Given the description of an element on the screen output the (x, y) to click on. 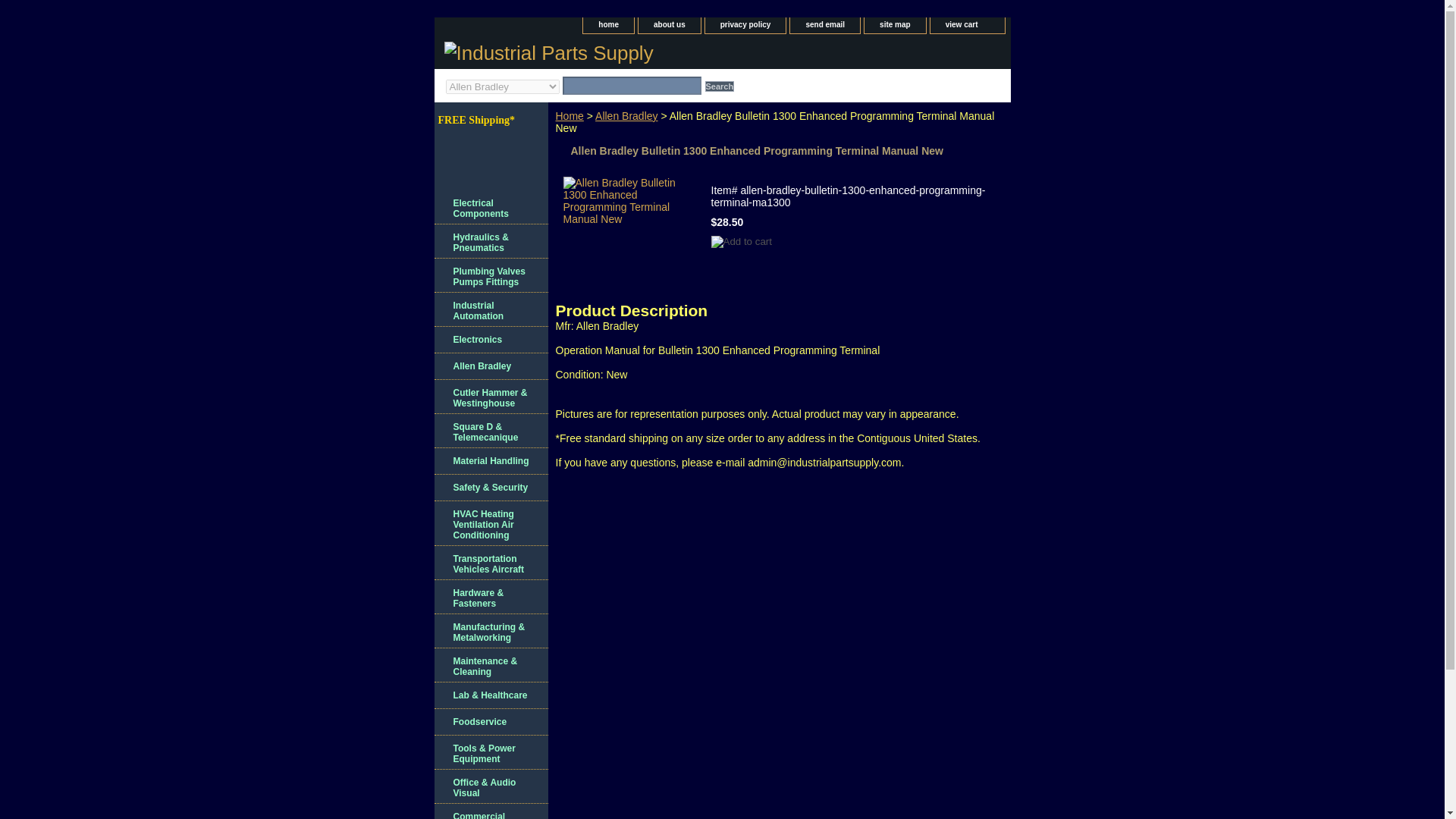
Industrial Parts Supply (622, 54)
about us (669, 25)
privacy policy (745, 25)
Electronics (490, 339)
site map (895, 25)
Foodservice (490, 722)
Plumbing Valves Pumps Fittings (490, 275)
Transportation Vehicles Aircraft (490, 562)
HVAC Heating Ventilation Air Conditioning (490, 523)
Home (568, 115)
Commercial Equipment (490, 811)
Allen Bradley (626, 115)
Electrical Components (490, 207)
Industrial Automation (490, 309)
Add to cart (741, 241)
